Given the description of an element on the screen output the (x, y) to click on. 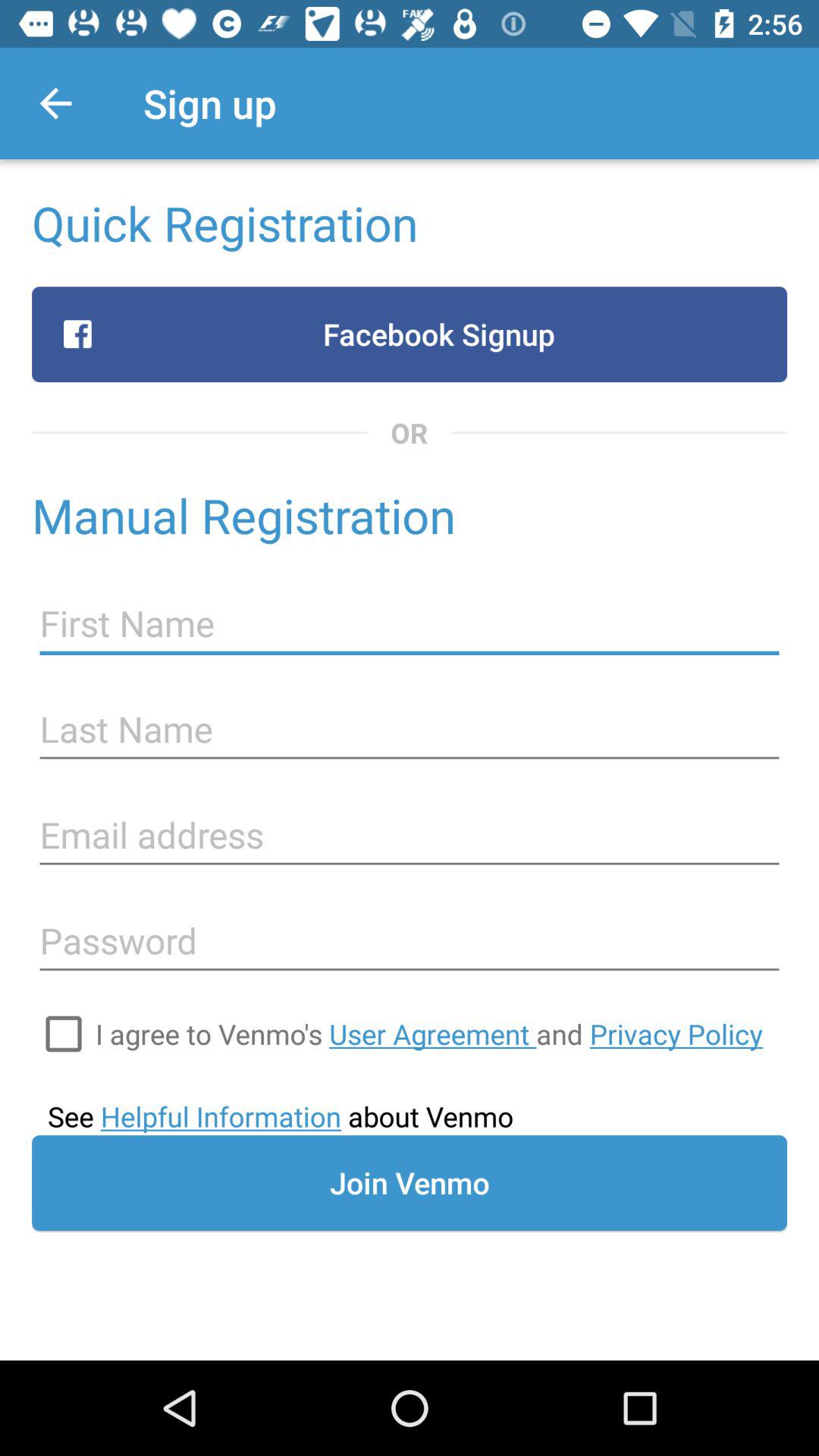
first name (409, 623)
